Given the description of an element on the screen output the (x, y) to click on. 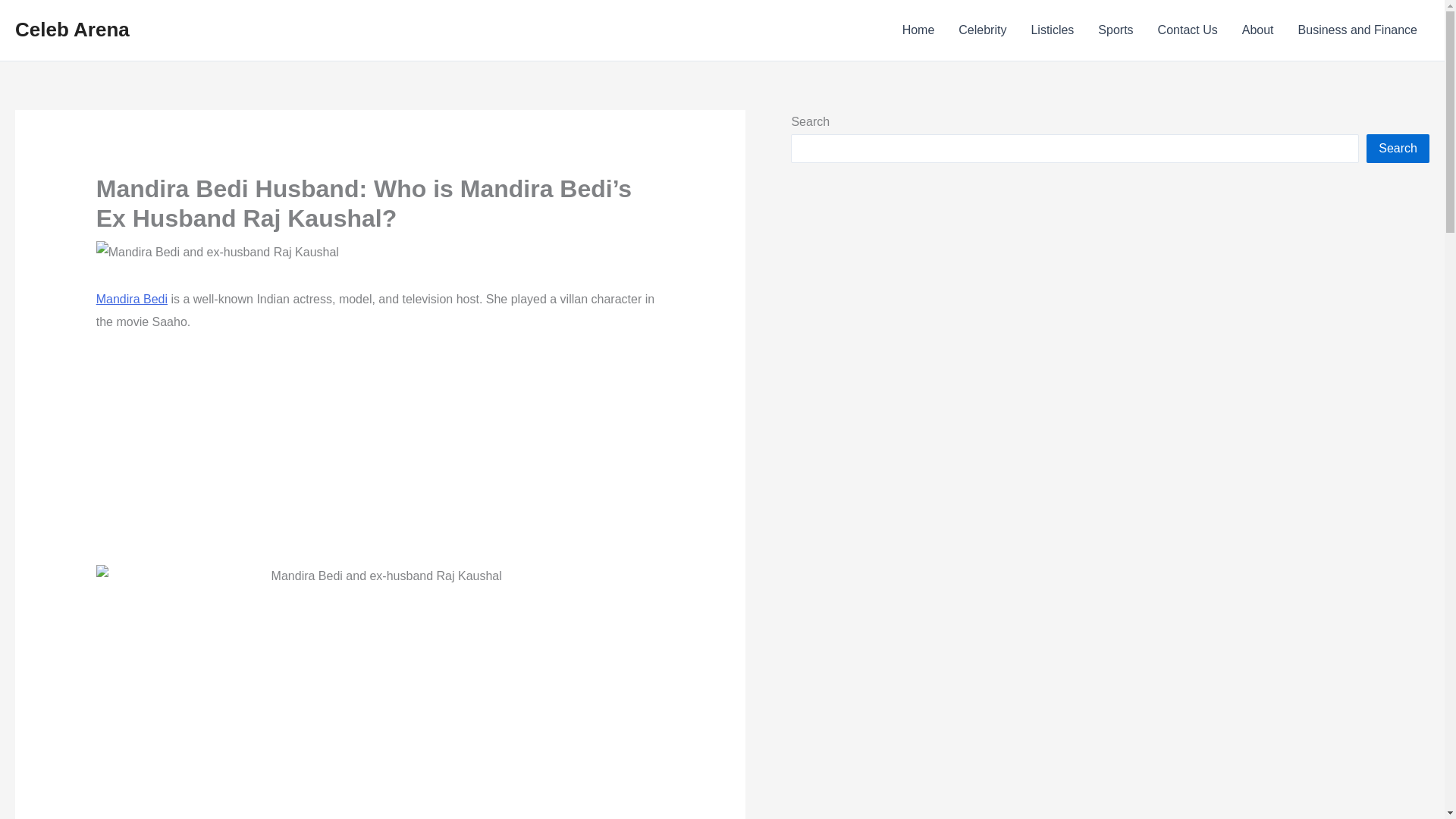
Celebrity (981, 30)
Business and Finance (1357, 30)
About (1257, 30)
Contact Us (1187, 30)
Listicles (1051, 30)
Sports (1115, 30)
Celeb Arena (71, 29)
Advertisement (380, 458)
Home (918, 30)
